Given the description of an element on the screen output the (x, y) to click on. 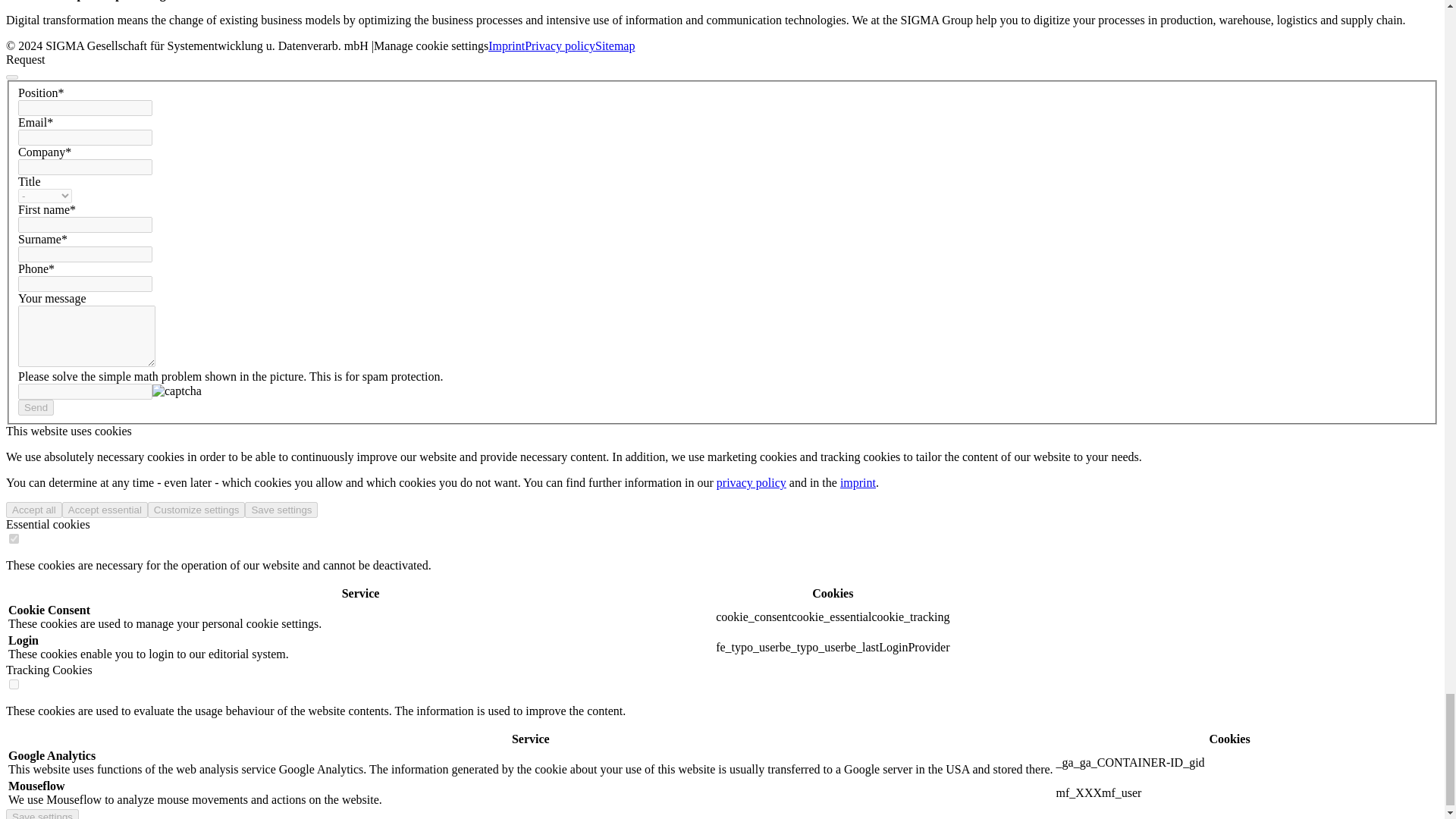
1 (13, 684)
1 (13, 538)
Send (35, 407)
